Given the description of an element on the screen output the (x, y) to click on. 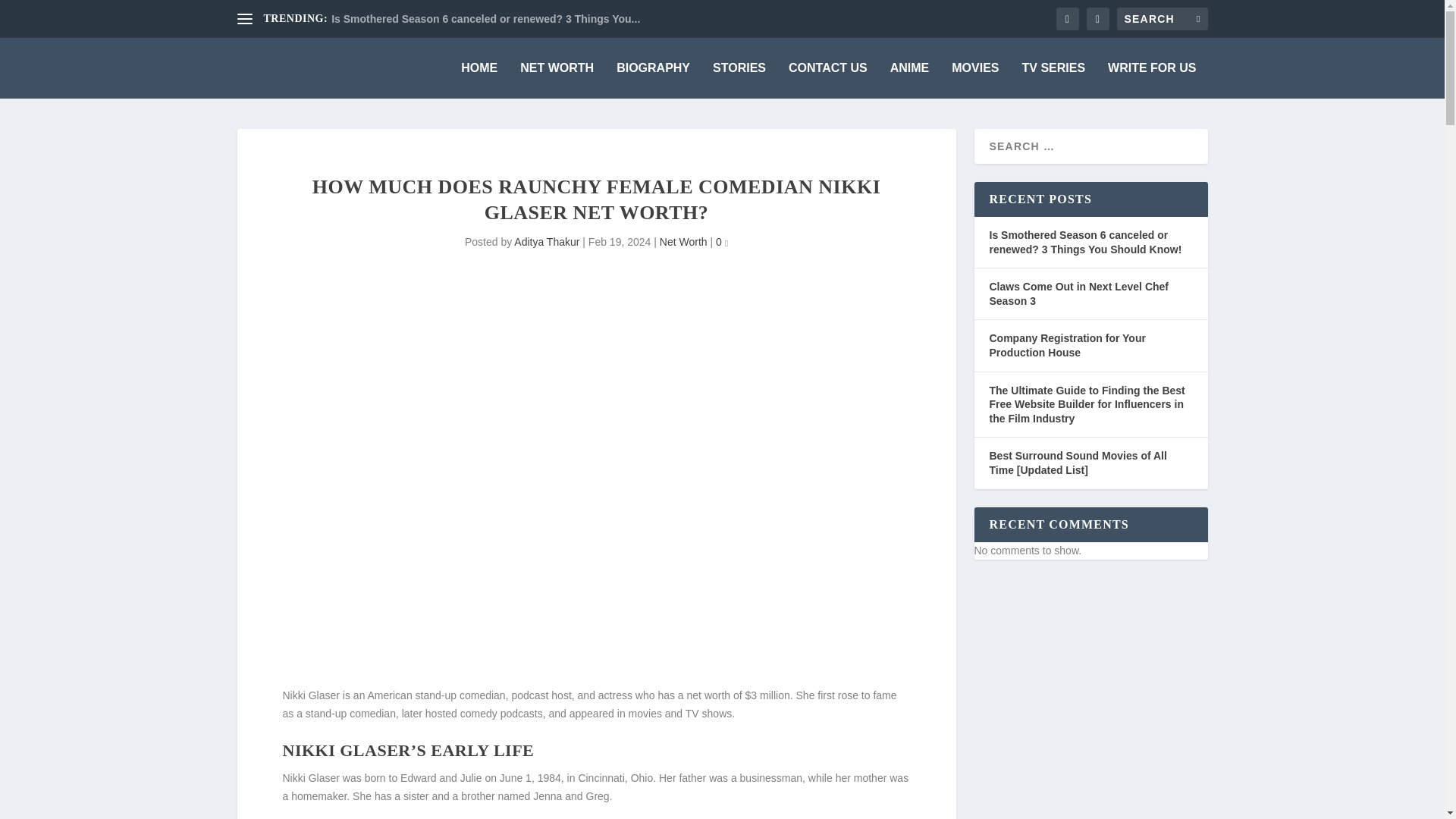
NET WORTH (556, 80)
ANIME (909, 80)
Is Smothered Season 6 canceled or renewed? 3 Things You... (485, 19)
CONTACT US (828, 80)
BIOGRAPHY (652, 80)
MOVIES (975, 80)
Net Worth (683, 241)
TV SERIES (1053, 80)
0 (722, 241)
Aditya Thakur (546, 241)
